Given the description of an element on the screen output the (x, y) to click on. 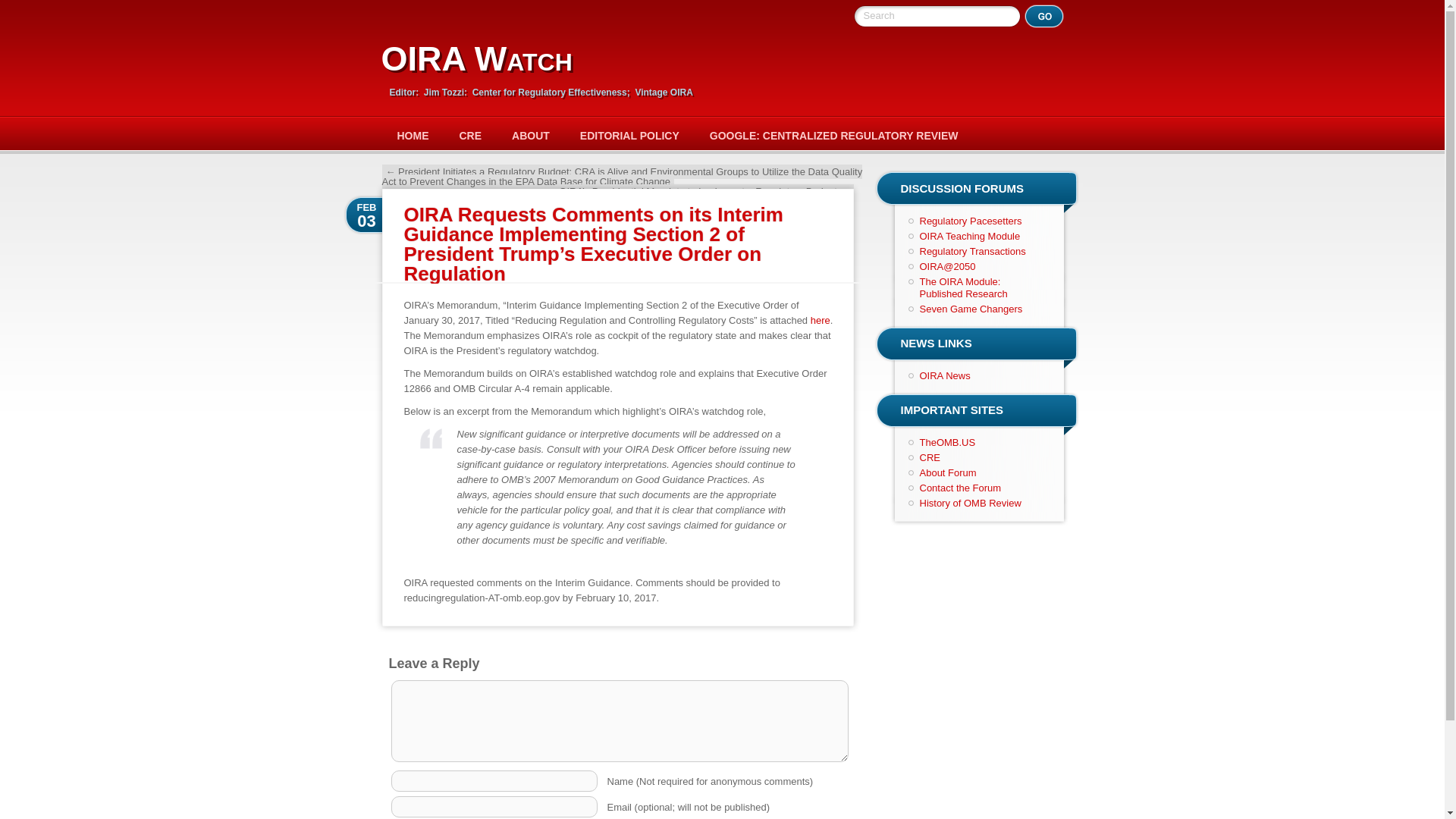
About Forum (946, 472)
HOME (412, 135)
ABOUT (530, 135)
Regulatory Transactions (971, 251)
Center for Regulatory Effectiveness;  (551, 91)
OIRA Watch (476, 58)
Vintage OIRA (663, 91)
Regulatory Pacesetters (970, 220)
CRE (470, 135)
OIRA Teaching Module (969, 235)
EDITORIAL POLICY (629, 135)
Contact the Forum (959, 487)
GOOGLE: CENTRALIZED REGULATORY REVIEW (834, 135)
Jim Tozzi:  (445, 91)
TheOMB.US (946, 441)
